Given the description of an element on the screen output the (x, y) to click on. 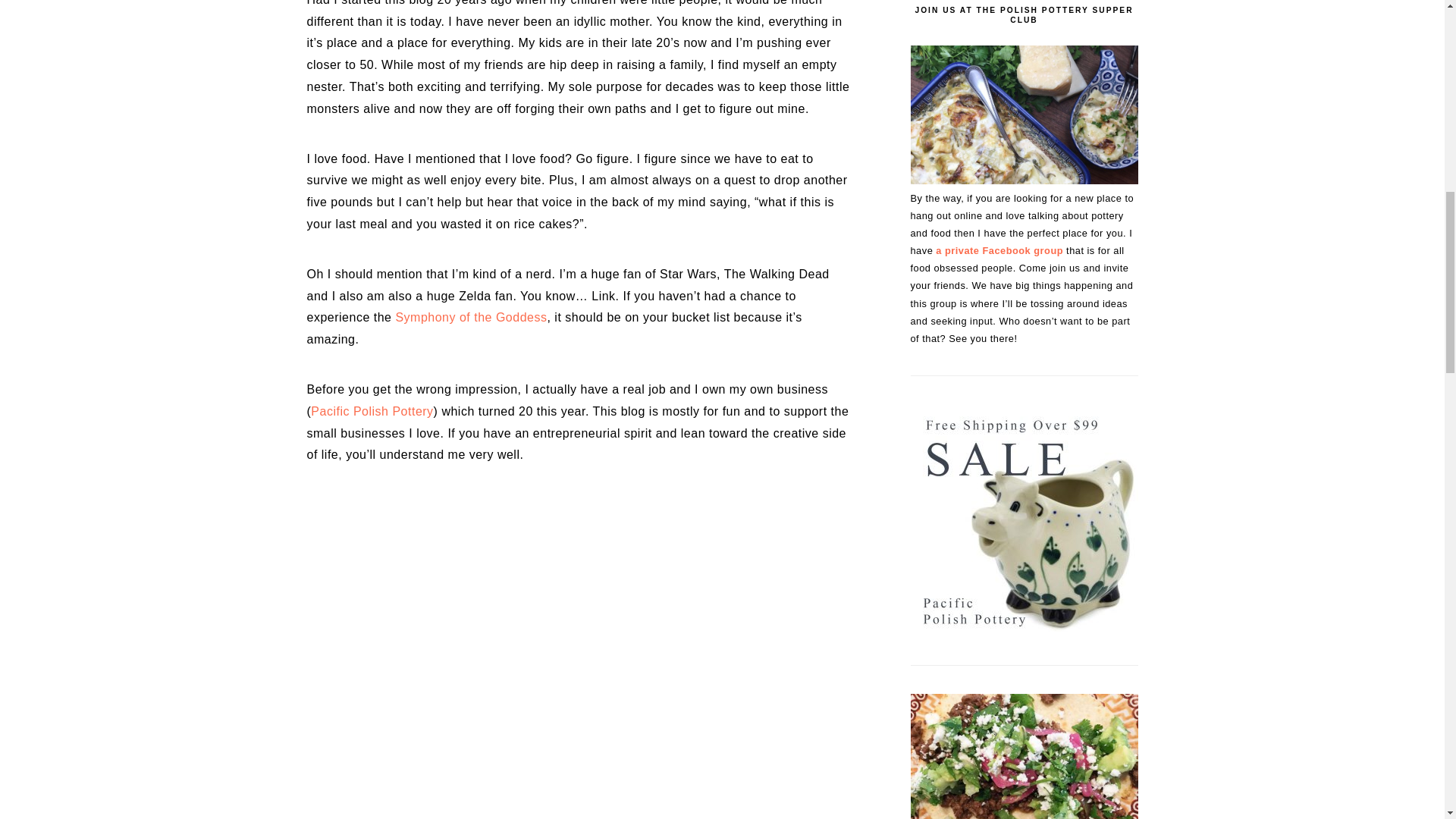
Pacific Polish Pottery (371, 410)
a private Facebook group (997, 250)
Symphony of the Goddess (470, 317)
